Given the description of an element on the screen output the (x, y) to click on. 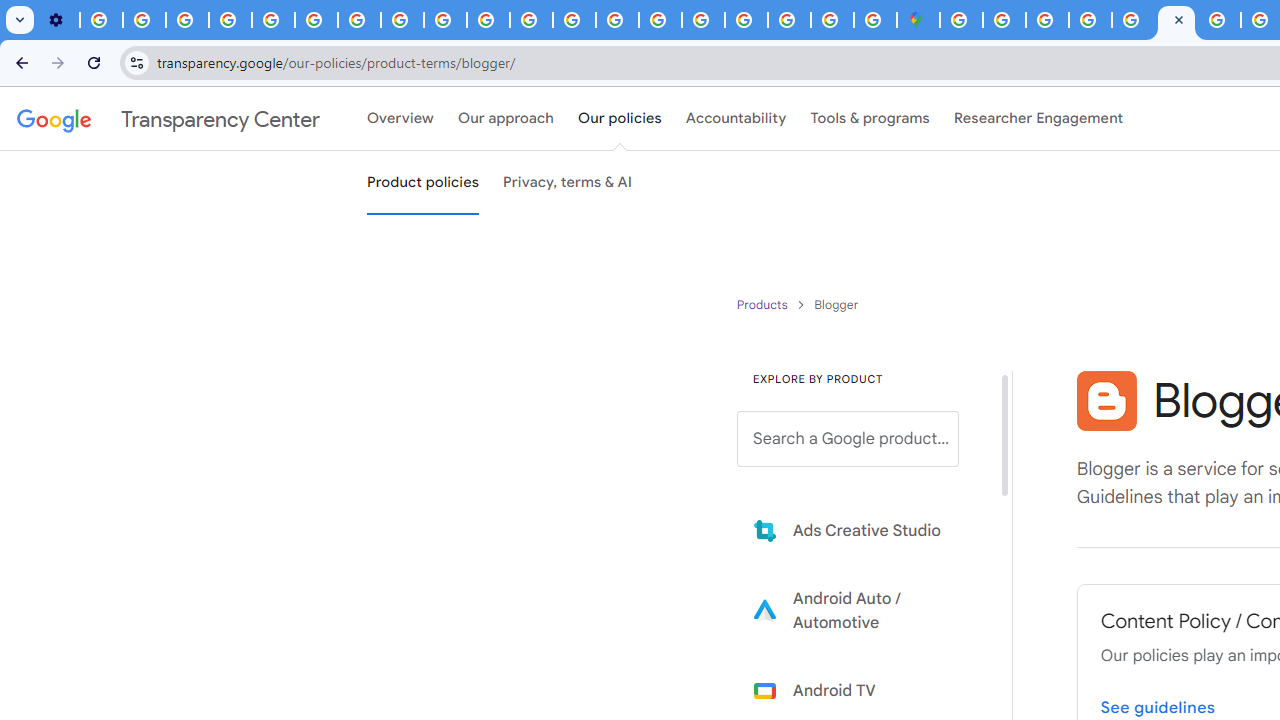
Learn more about Android Auto (862, 610)
Google Maps (918, 20)
Settings - Customize profile (58, 20)
Accountability (735, 119)
Privacy Checkup (488, 20)
Privacy Checkup (445, 20)
YouTube (315, 20)
Privacy Help Center - Policies Help (1219, 20)
Product policies (763, 304)
Blogger Policies and Guidelines - Transparency Center (1176, 20)
